Given the description of an element on the screen output the (x, y) to click on. 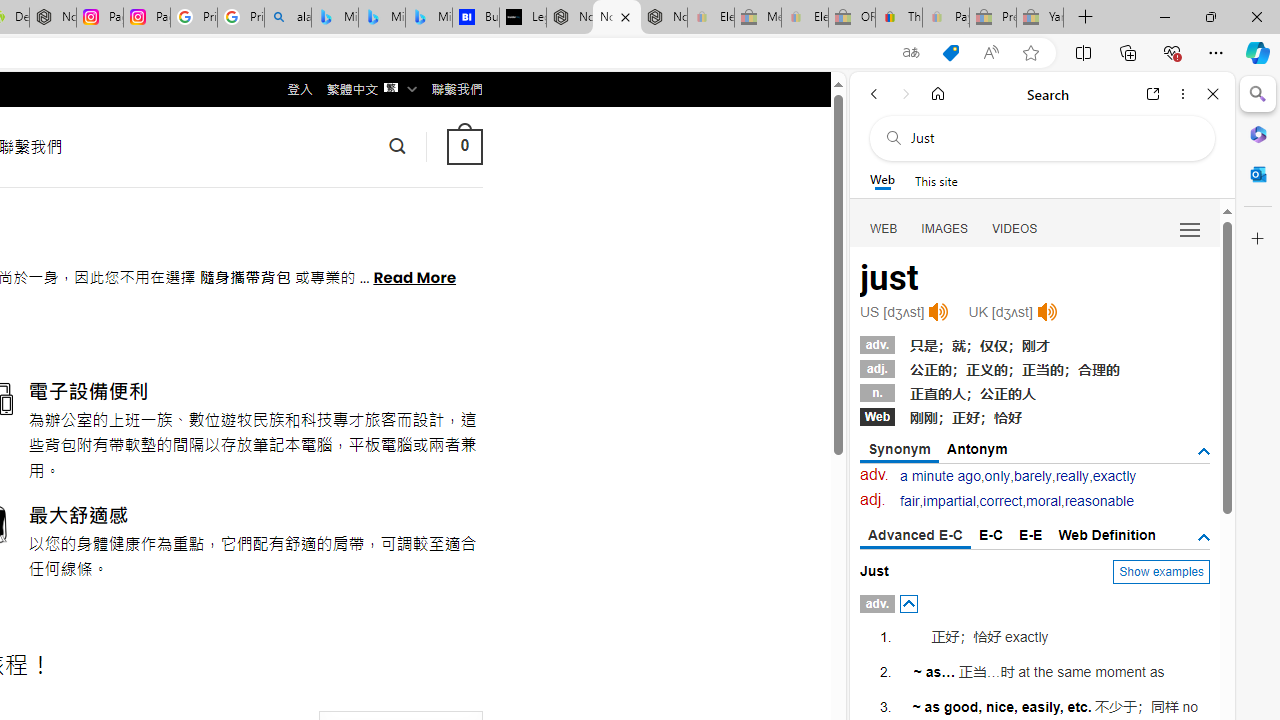
barely (1032, 475)
really (1072, 475)
Read More (414, 276)
Press Room - eBay Inc. - Sleeping (993, 17)
fair (909, 501)
Synonym (899, 449)
Click to listen (1046, 312)
Microsoft Bing Travel - Shangri-La Hotel Bangkok (428, 17)
Threats and offensive language policy | eBay (898, 17)
